Given the description of an element on the screen output the (x, y) to click on. 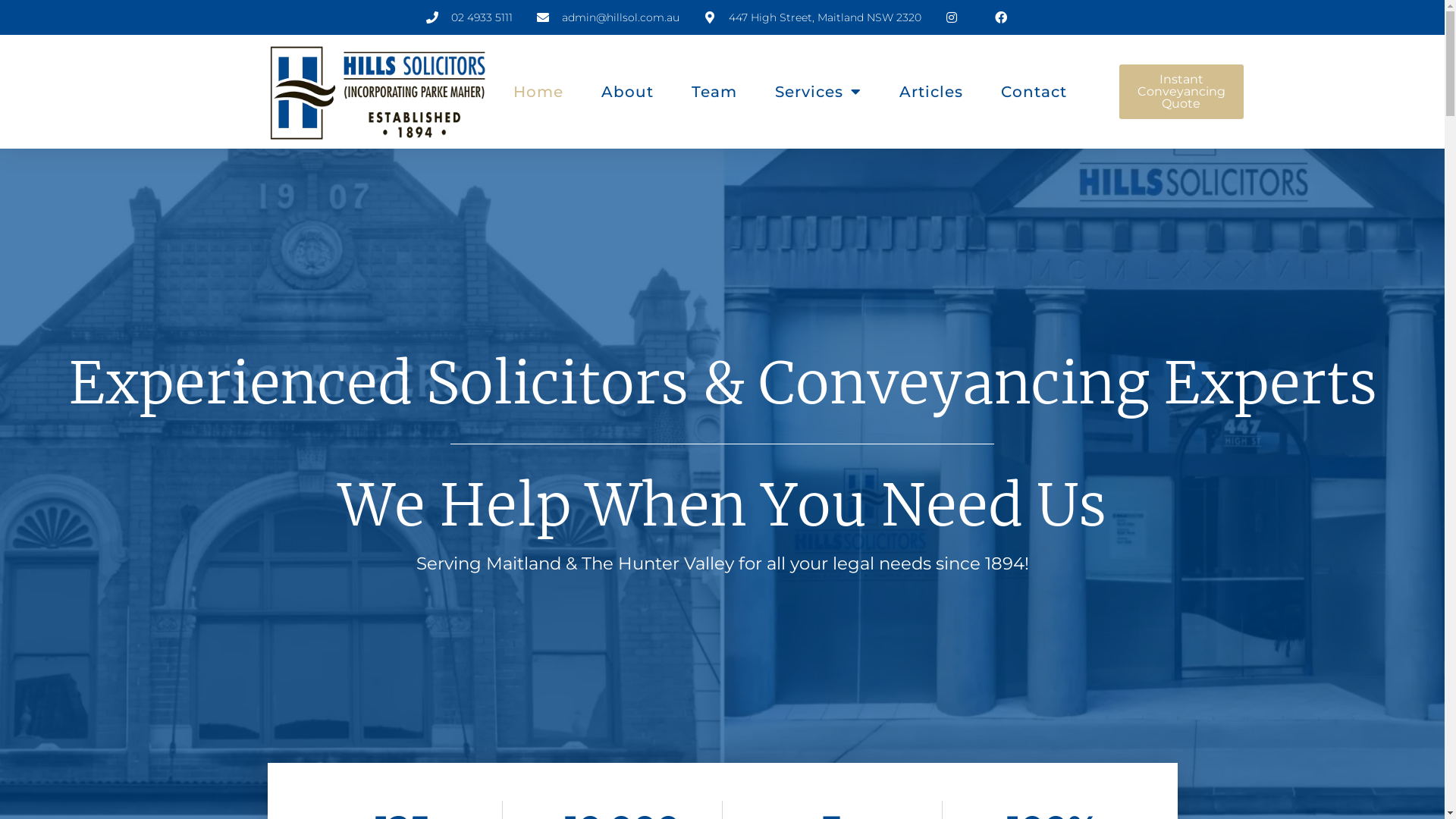
07_Hills_Logo_Supplied_Low-Res-01x-e1679359019792 Element type: hover (377, 91)
Services Element type: text (818, 91)
Contact Element type: text (1033, 91)
Team Element type: text (714, 91)
Home Element type: text (538, 91)
Articles Element type: text (931, 91)
Instant Conveyancing Quote Element type: text (1181, 91)
About Element type: text (627, 91)
